Given the description of an element on the screen output the (x, y) to click on. 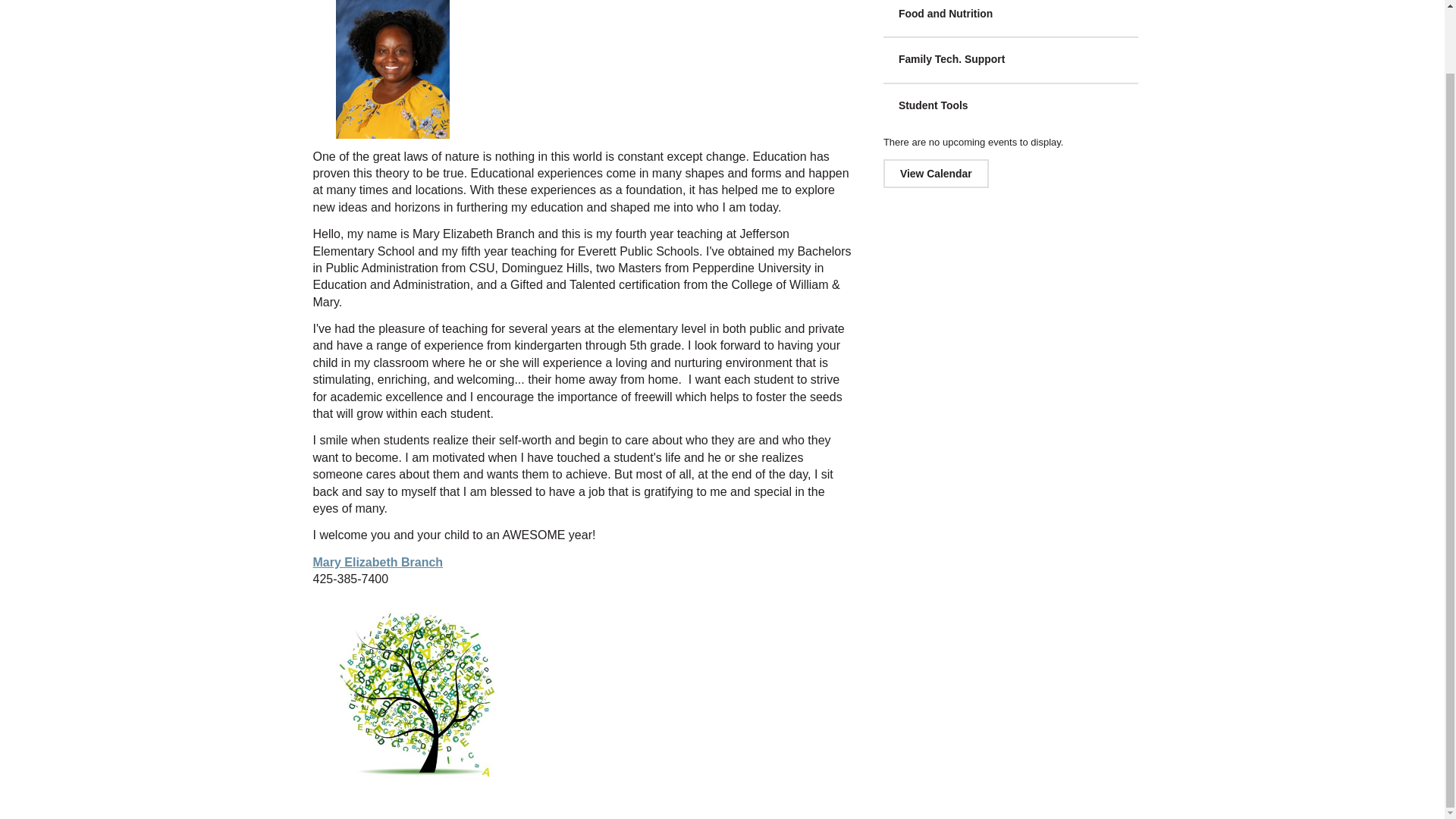
Tree (417, 692)
